Given the description of an element on the screen output the (x, y) to click on. 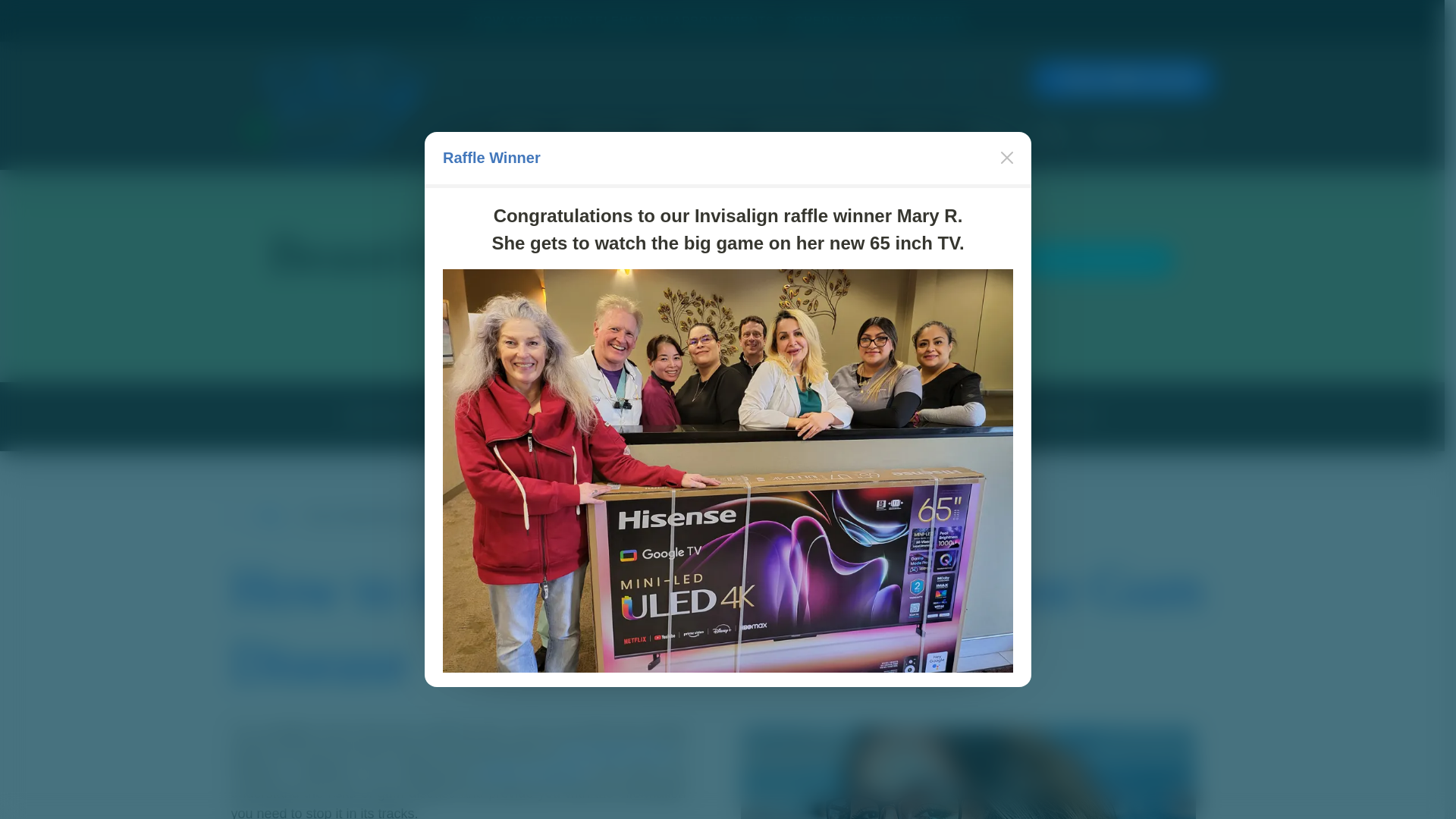
Services (697, 133)
About Us (601, 133)
Home (521, 133)
Facebook (817, 80)
The Dental Touch Oakland Logo (332, 104)
The Dental Touch Oakland (332, 105)
SCHEDULE A VIRTUAL VISIT (874, 19)
Youtube (997, 80)
How to Fight Tooth and Nail Against Gum Disease (967, 773)
LinkedIn (888, 80)
